Given the description of an element on the screen output the (x, y) to click on. 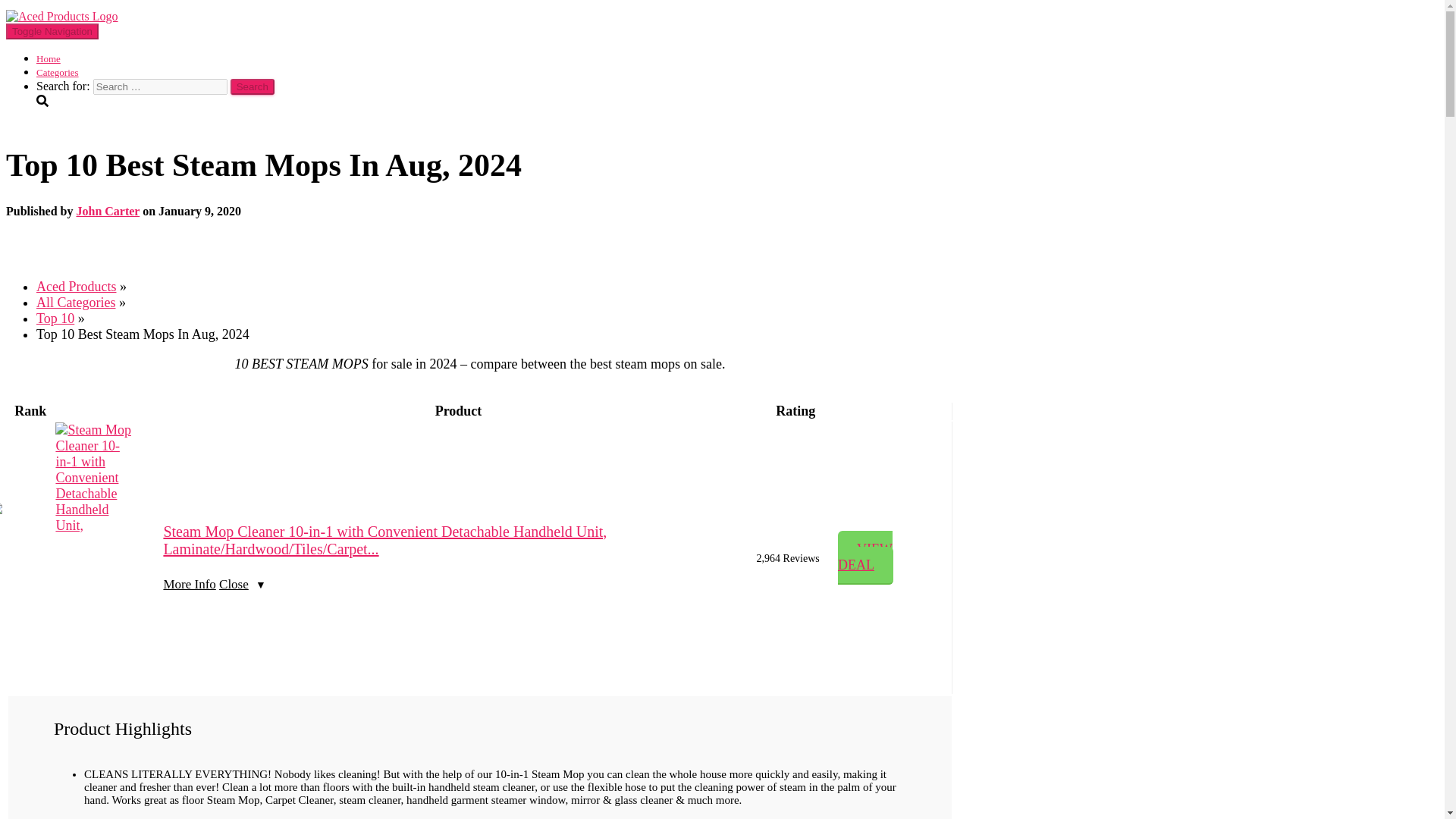
John Carter (107, 210)
Search (252, 86)
Categories (57, 71)
Home (48, 58)
Top 10 (55, 318)
VIEW DEAL (865, 557)
Aced Products (61, 15)
Home (48, 58)
Toggle Navigation (52, 31)
Aced Products (76, 286)
